Given the description of an element on the screen output the (x, y) to click on. 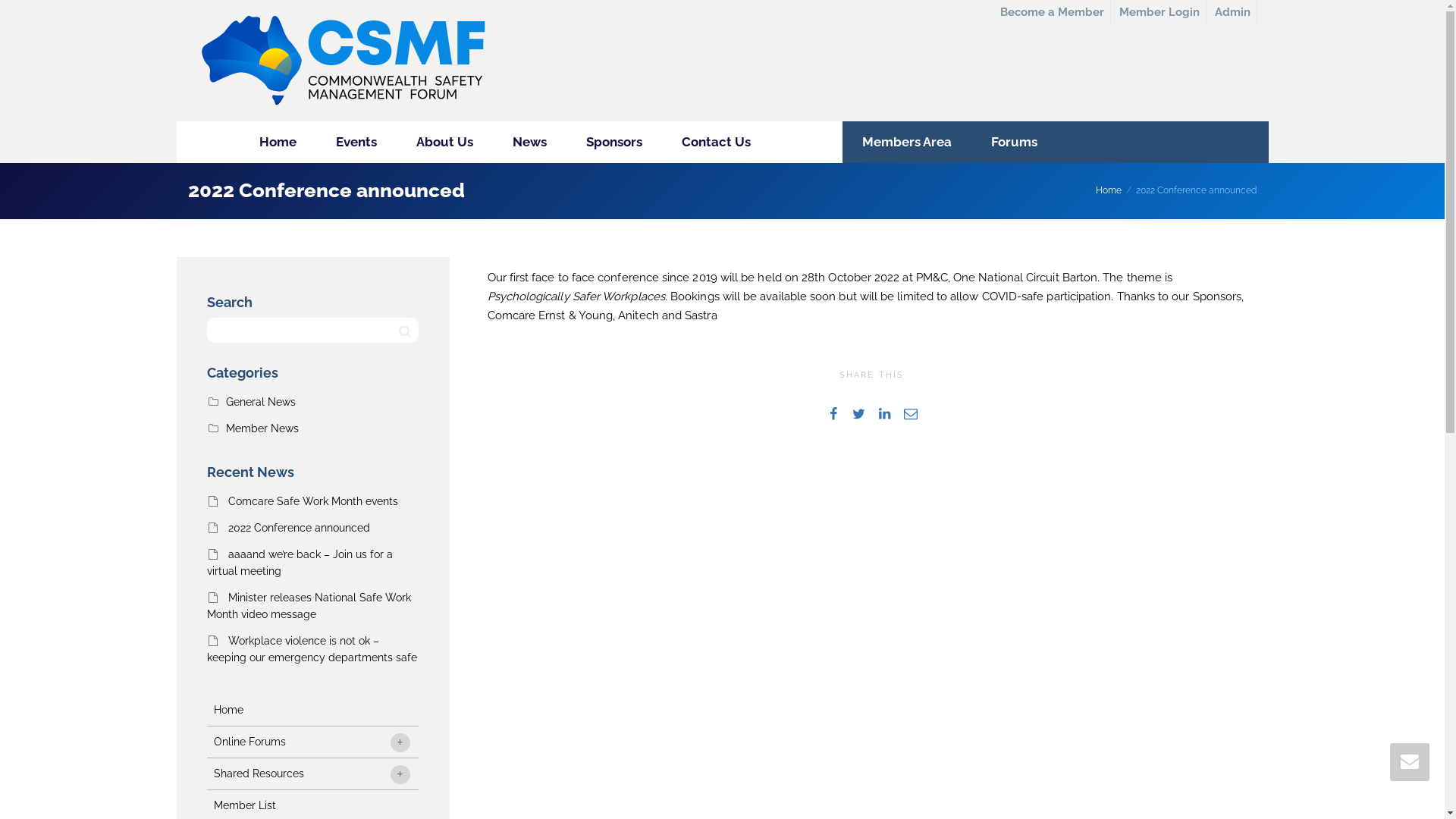
Sponsors Element type: text (613, 142)
Minister releases National Safe Work Month video message Element type: text (308, 605)
Member News Element type: text (261, 428)
Shared Resources Element type: text (311, 773)
About Us Element type: text (443, 142)
2022 Conference announced Element type: text (298, 527)
Member Login Element type: text (1159, 12)
Become a Member Element type: text (1051, 12)
Admin Element type: text (1232, 12)
Contact Us Element type: text (715, 142)
Commonwealth Safety Management Forum Element type: hover (341, 59)
Online Forums Element type: text (311, 741)
Home Element type: text (311, 709)
Forums Element type: text (1013, 142)
Search Element type: text (404, 330)
News Element type: text (529, 142)
Home Element type: text (1108, 190)
Members Area Element type: text (905, 142)
General News Element type: text (260, 401)
Comcare Safe Work Month events Element type: text (312, 501)
Events Element type: text (355, 142)
Home Element type: text (277, 142)
